Given the description of an element on the screen output the (x, y) to click on. 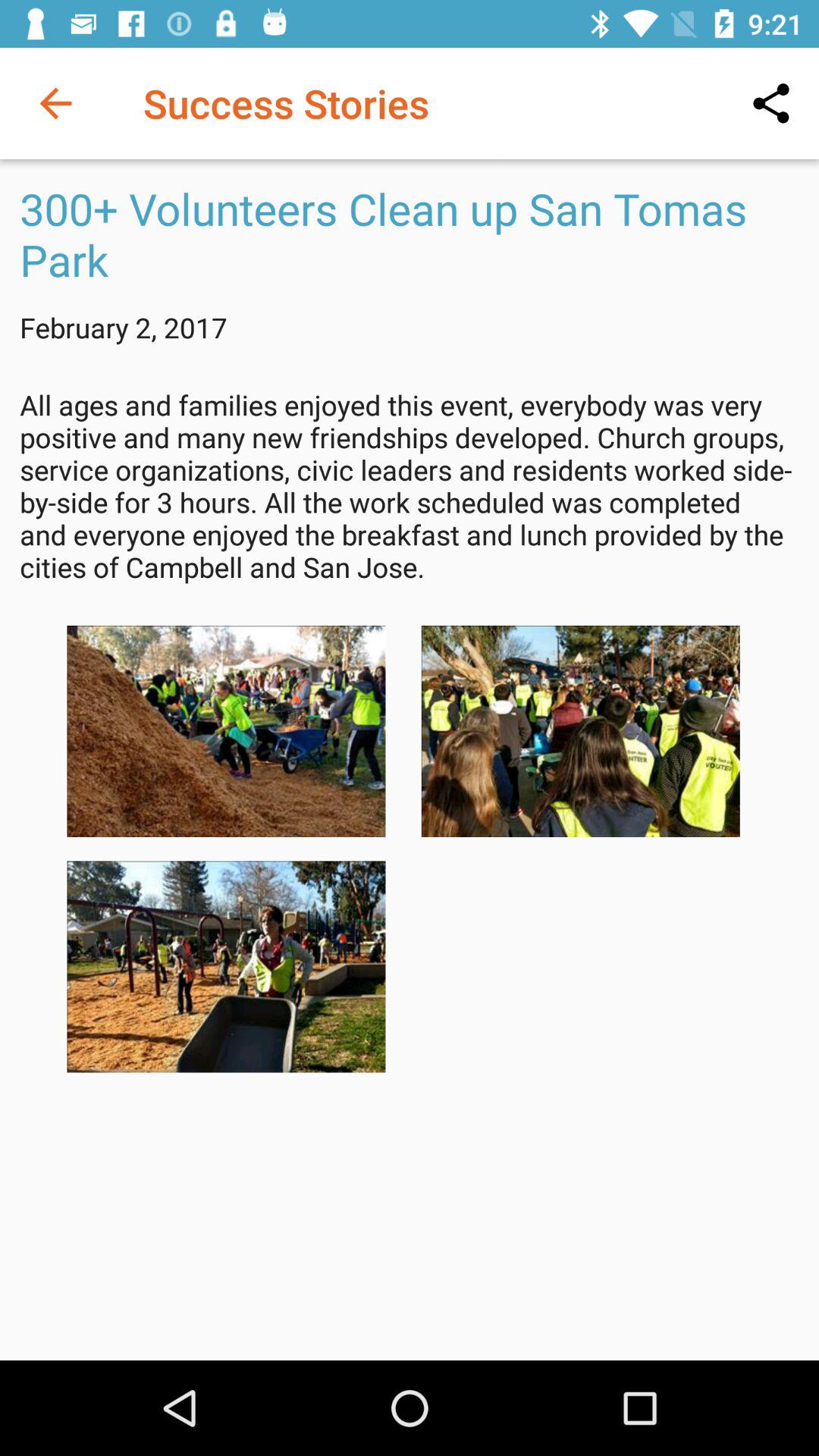
launch item next to success stories item (771, 103)
